Given the description of an element on the screen output the (x, y) to click on. 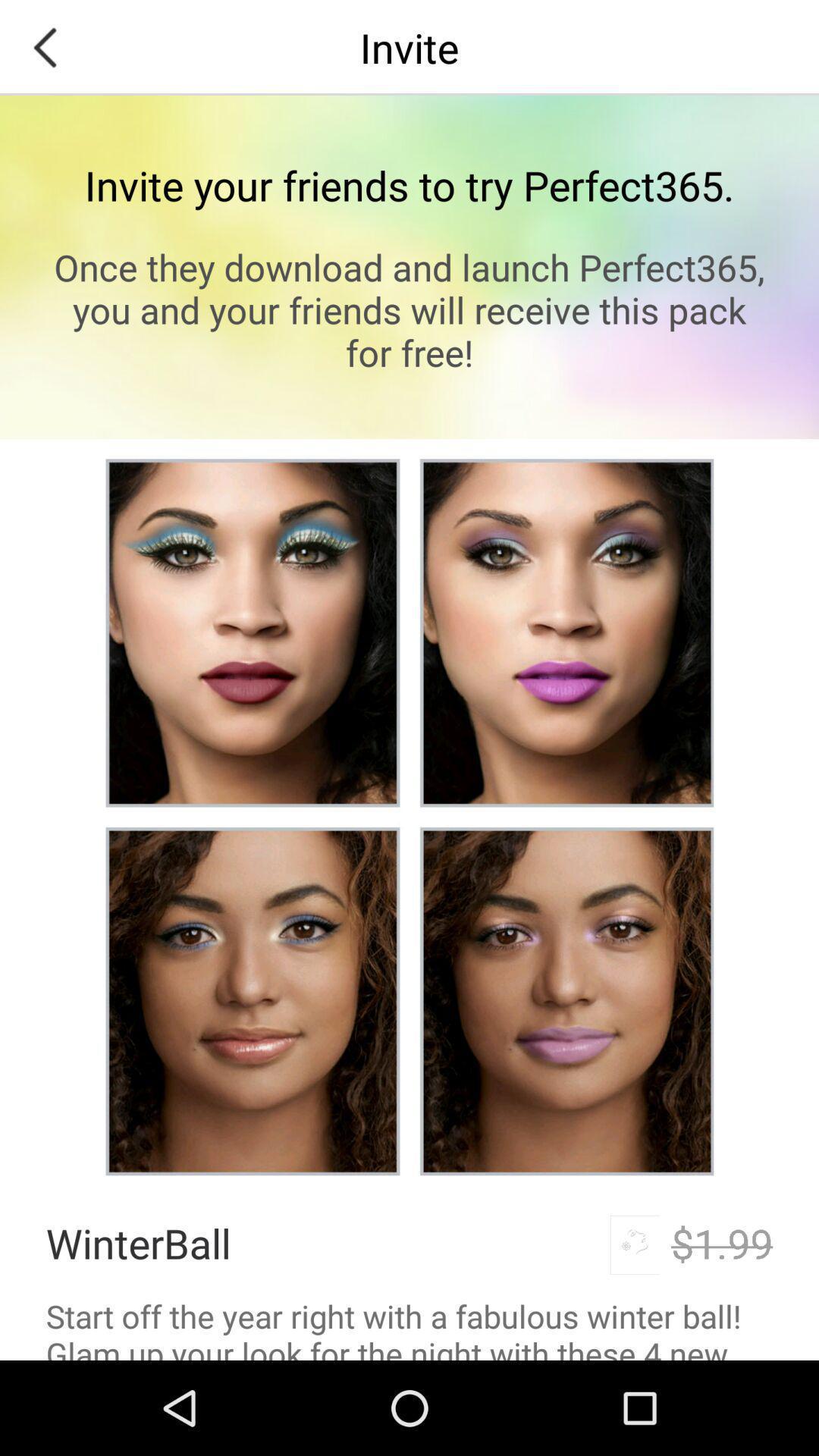
click the icon above the start off the icon (721, 1242)
